Given the description of an element on the screen output the (x, y) to click on. 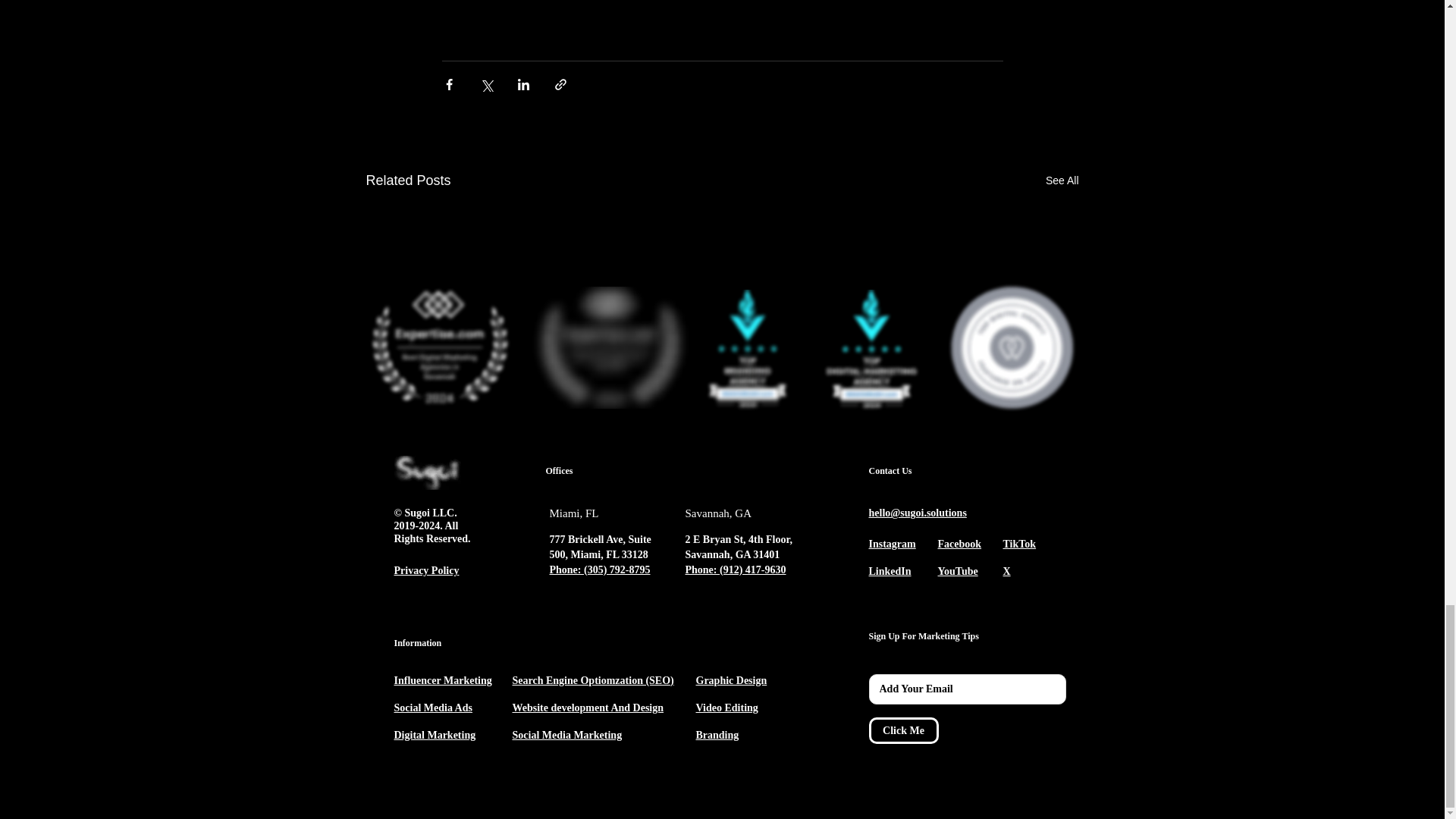
How Can I Do Digital Marketing? (475, 364)
A Seafood Lover's Guide To Savannah, GA (720, 364)
Privacy Policy (427, 570)
See All (1061, 180)
Miami, FL (573, 512)
Exploring The Best Restaurants In Brickell, Miami (966, 364)
Digital Marketing (435, 734)
Savannah, GA (718, 512)
Social Media Ads (432, 707)
Graphic Design (731, 680)
Influencer Marketing (443, 680)
Social Media Marketing (567, 734)
Website development And Design (587, 707)
